Given the description of an element on the screen output the (x, y) to click on. 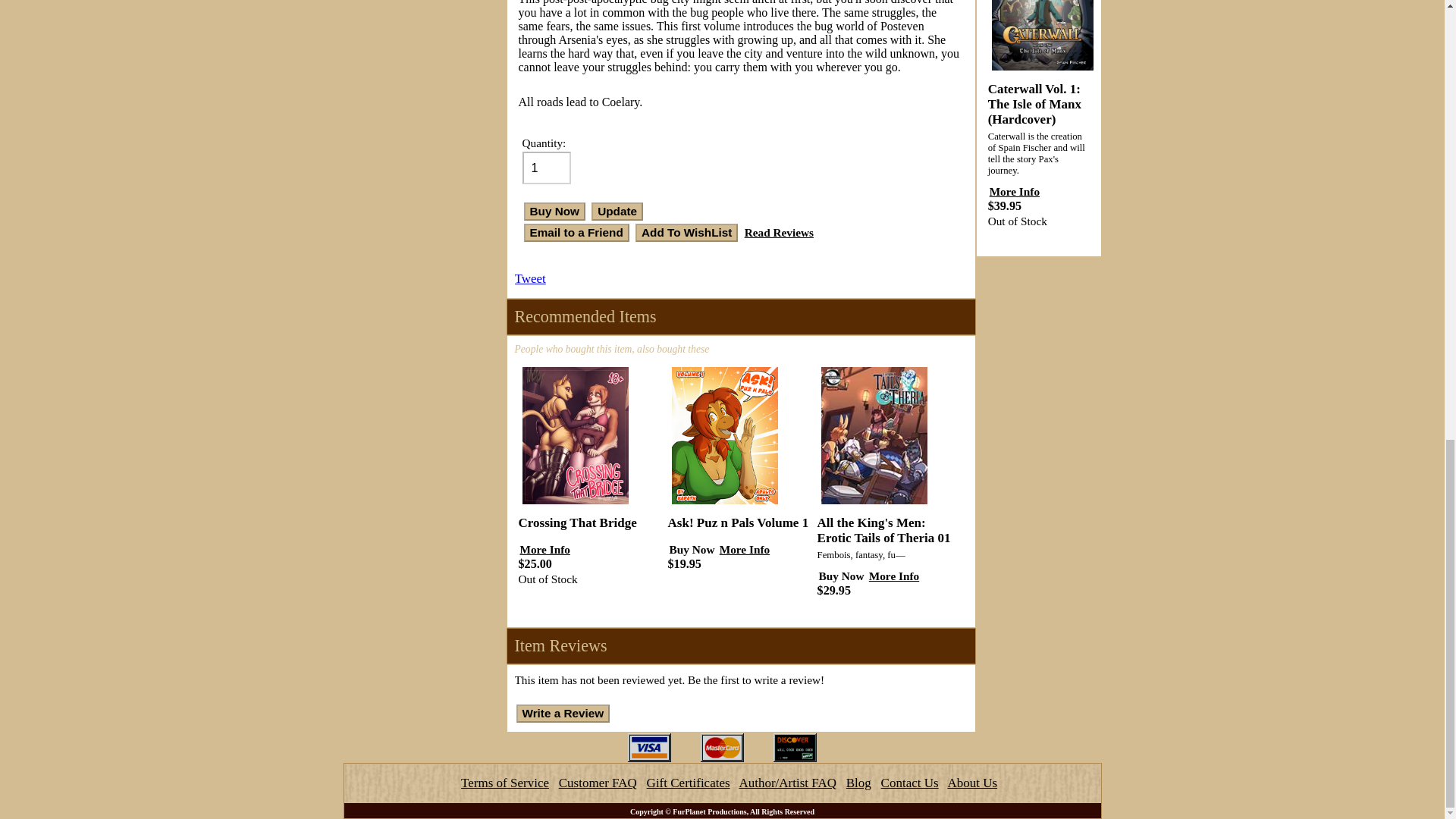
Write a Review (562, 713)
Email to a Friend (575, 232)
1 (545, 167)
Add To WishList (686, 232)
Buy Now (553, 211)
Update (617, 211)
